Given the description of an element on the screen output the (x, y) to click on. 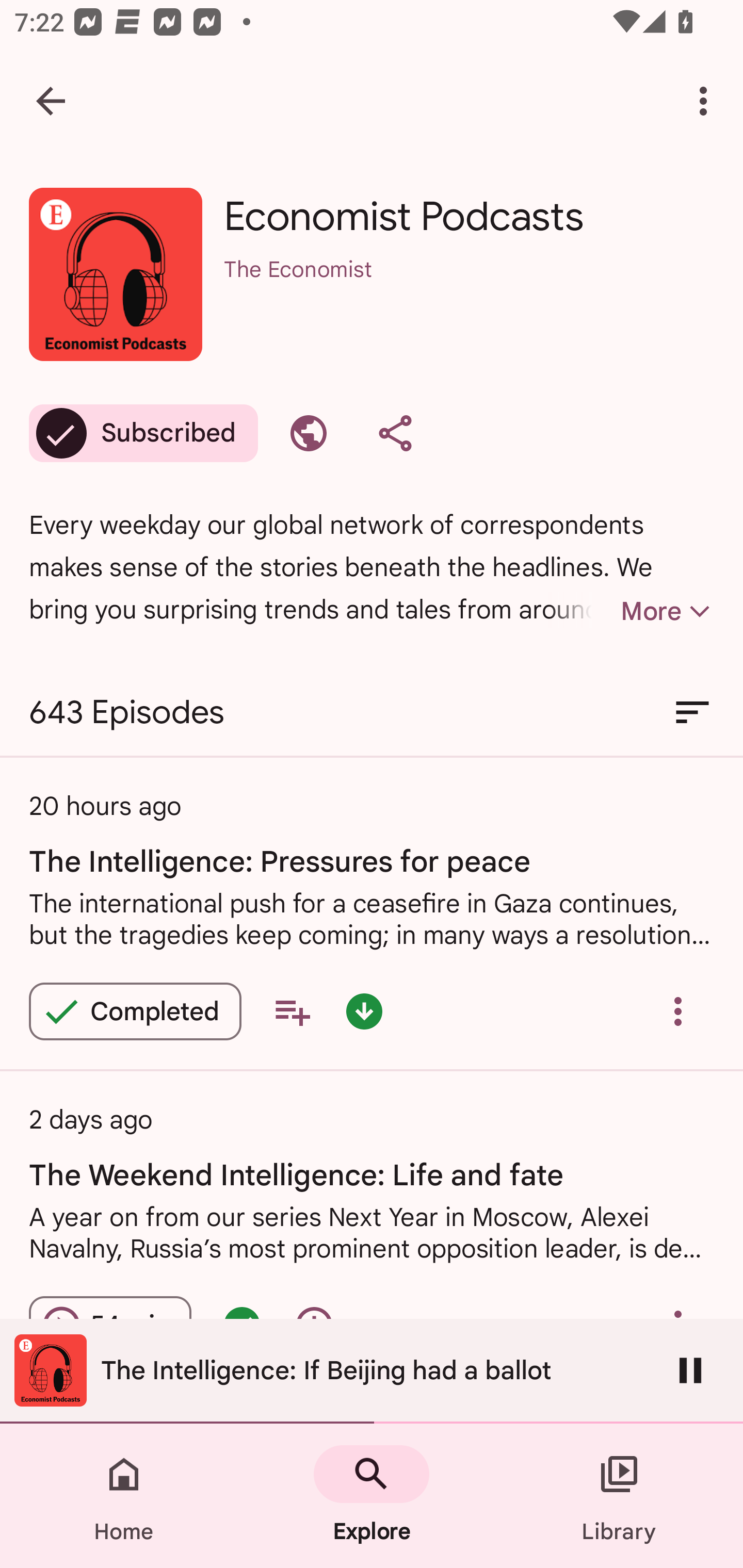
Navigate up (50, 101)
More options (706, 101)
The Economist (468, 295)
Subscribed (142, 433)
Visit website (308, 433)
Share (395, 433)
More (631, 610)
Sort (692, 712)
Add to your queue (291, 1011)
Episode downloaded - double tap for options (364, 1011)
Overflow menu (677, 1011)
Pause (690, 1370)
Home (123, 1495)
Library (619, 1495)
